Given the description of an element on the screen output the (x, y) to click on. 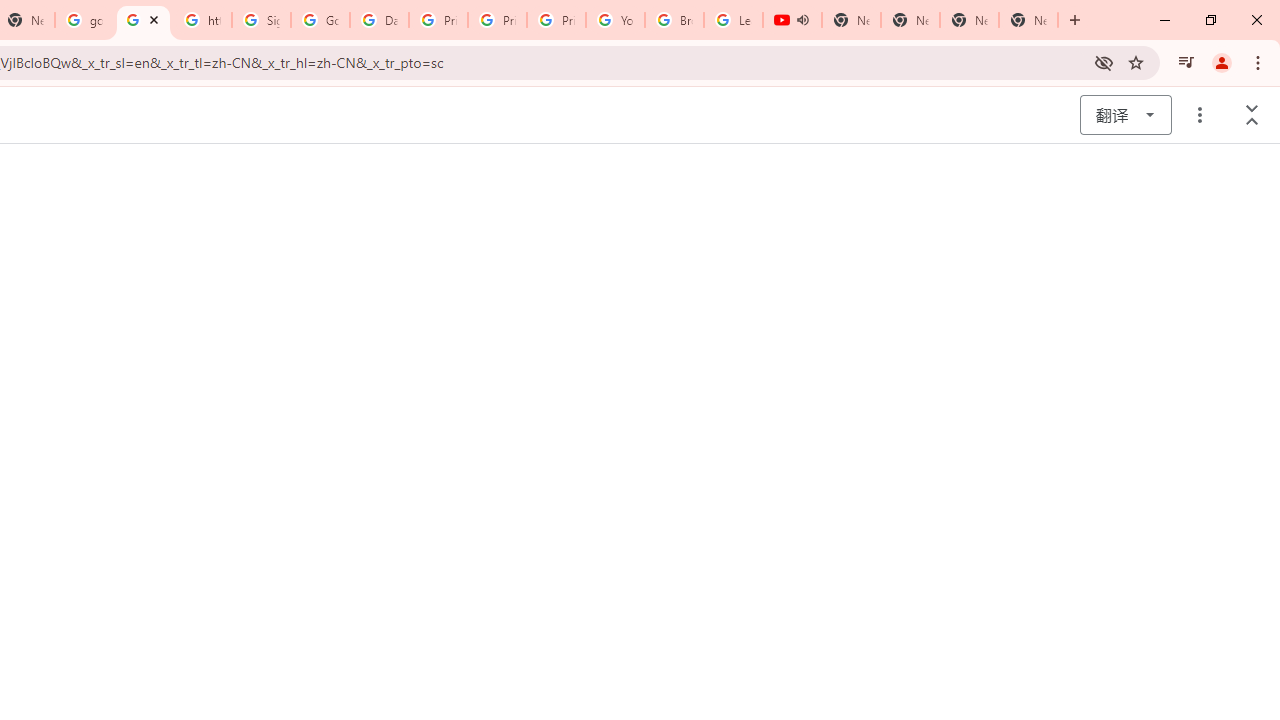
Privacy Help Center - Policies Help (497, 20)
https://scholar.google.com/ (142, 20)
Privacy Help Center - Policies Help (438, 20)
Mute tab (802, 20)
